Given the description of an element on the screen output the (x, y) to click on. 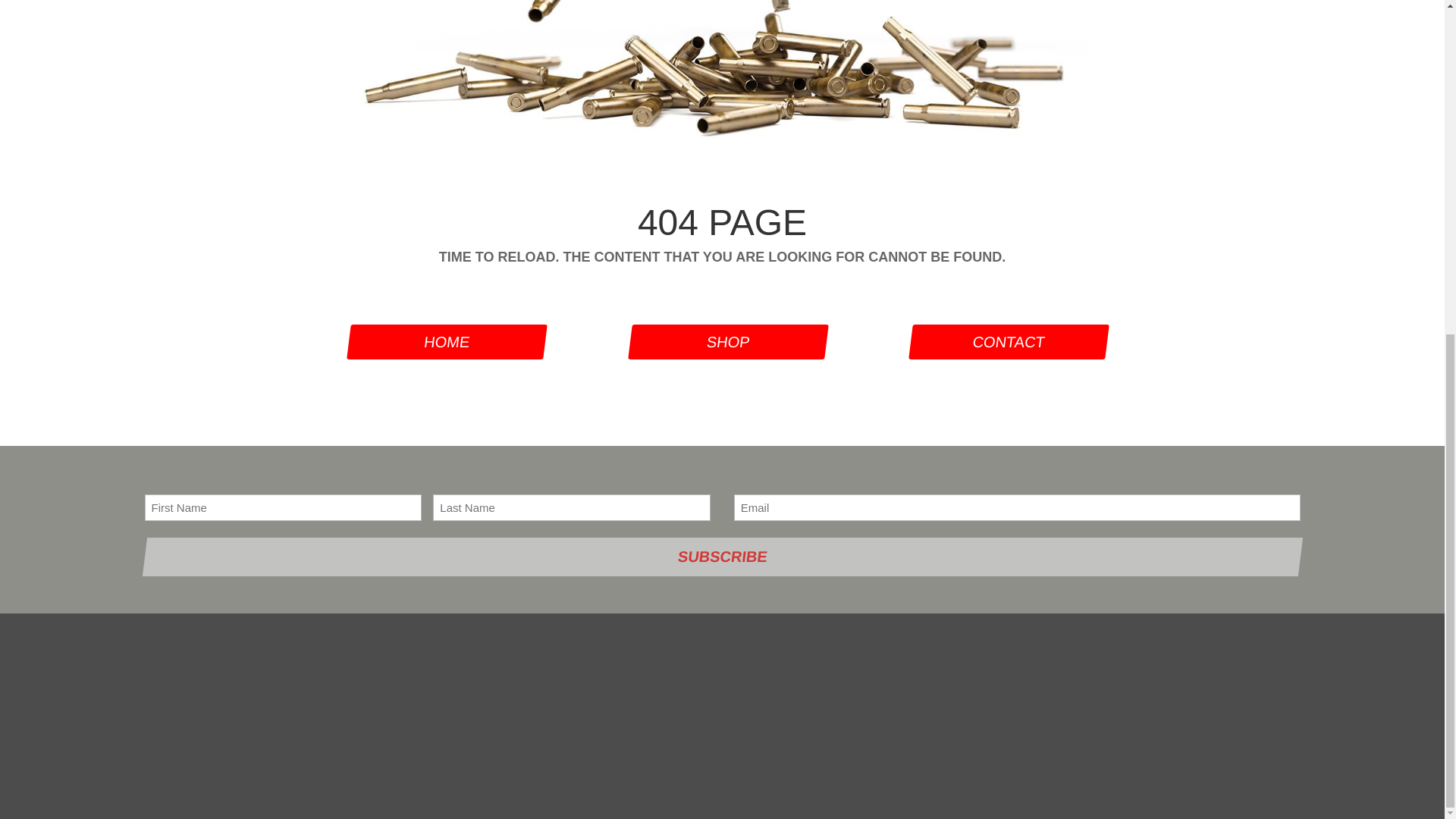
Falling,Bullet,Shells,-,3d,Illustration (722, 76)
Subscribe (719, 556)
